Given the description of an element on the screen output the (x, y) to click on. 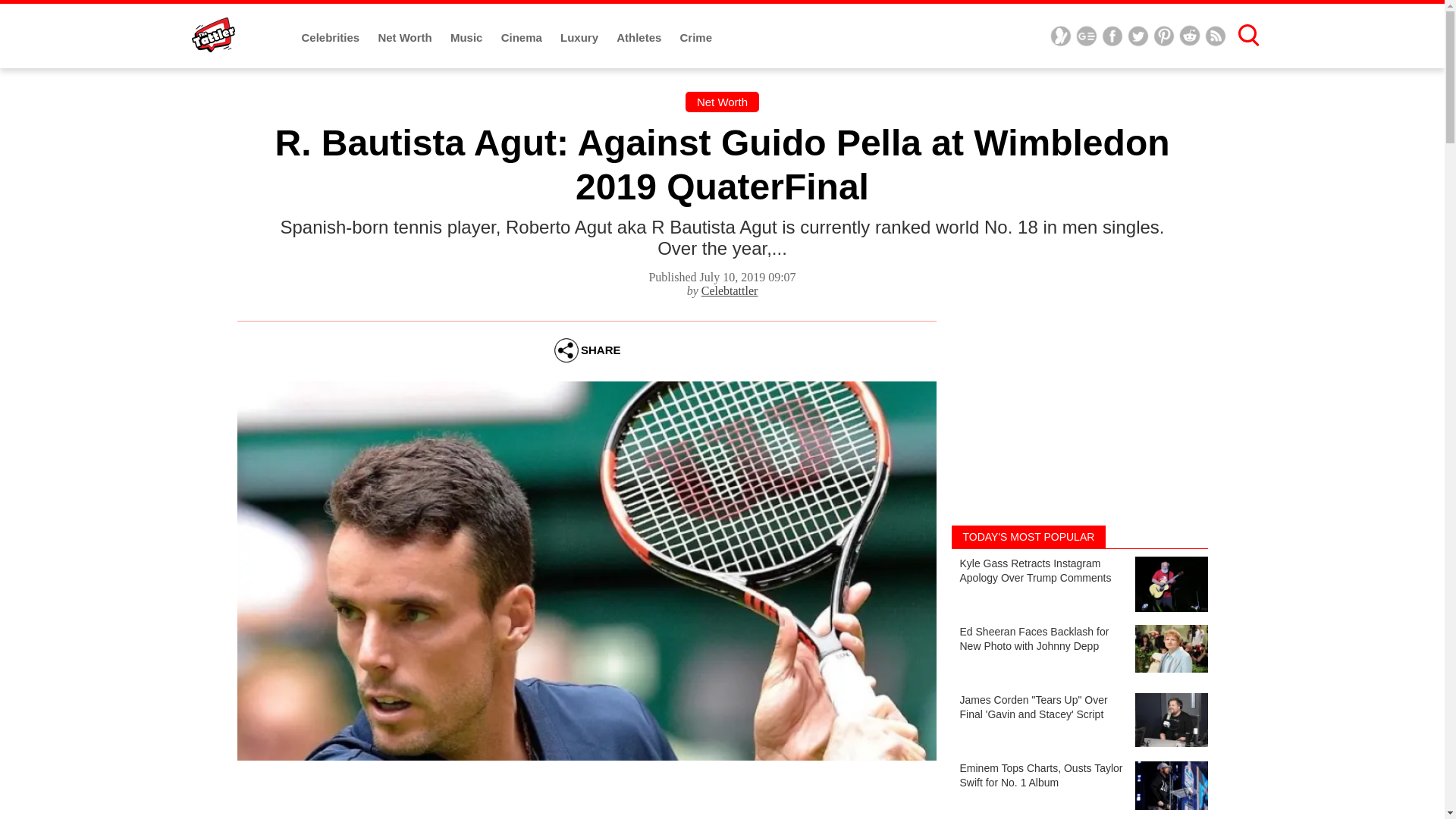
Net Worth (722, 101)
Crime (696, 37)
Celebtattler (729, 290)
Net Worth (406, 37)
Music (467, 37)
Cinema (522, 37)
Celebrities (331, 37)
Athletes (639, 37)
Luxury (580, 37)
